Given the description of an element on the screen output the (x, y) to click on. 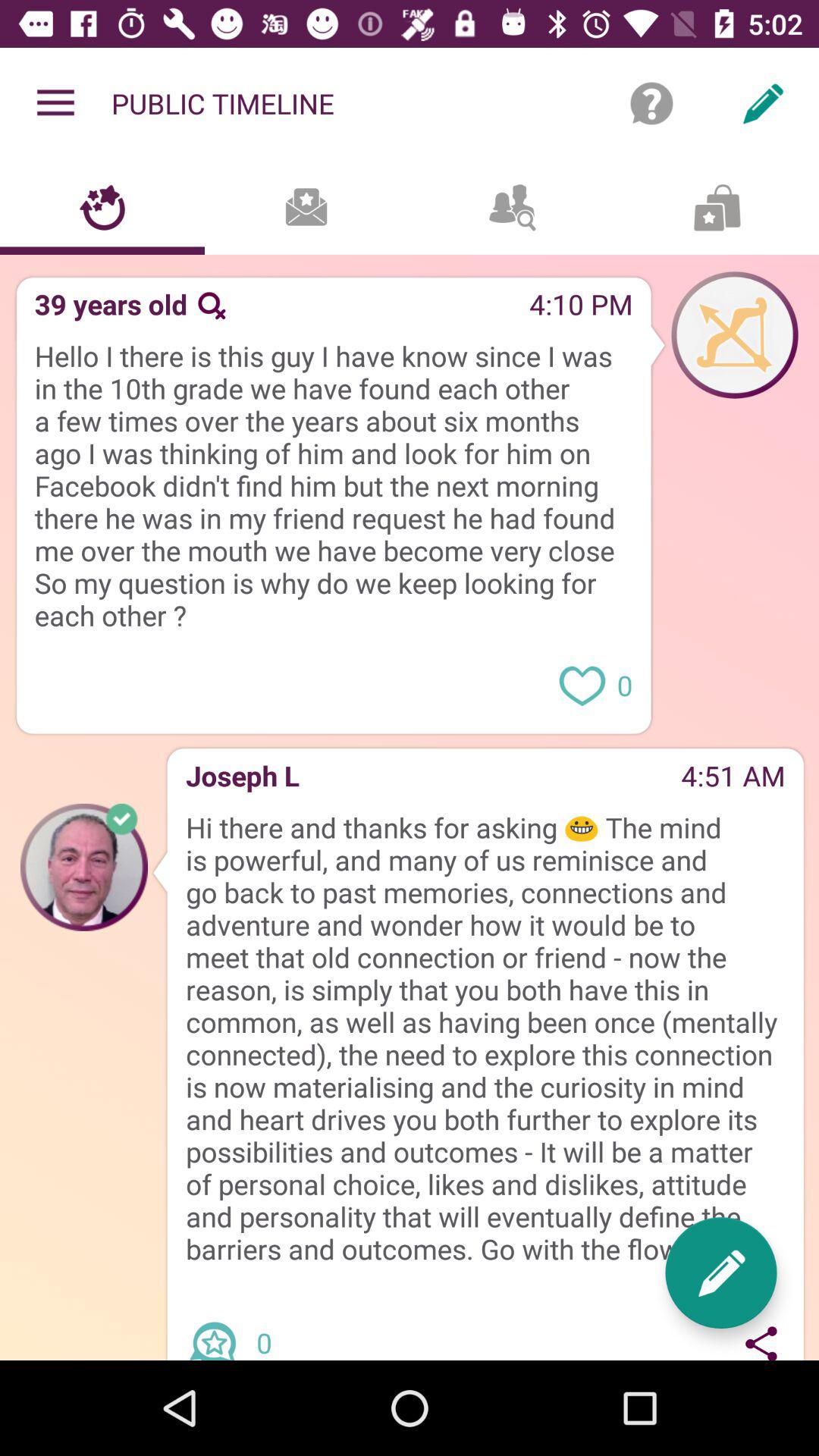
share the selected message (761, 1340)
